Given the description of an element on the screen output the (x, y) to click on. 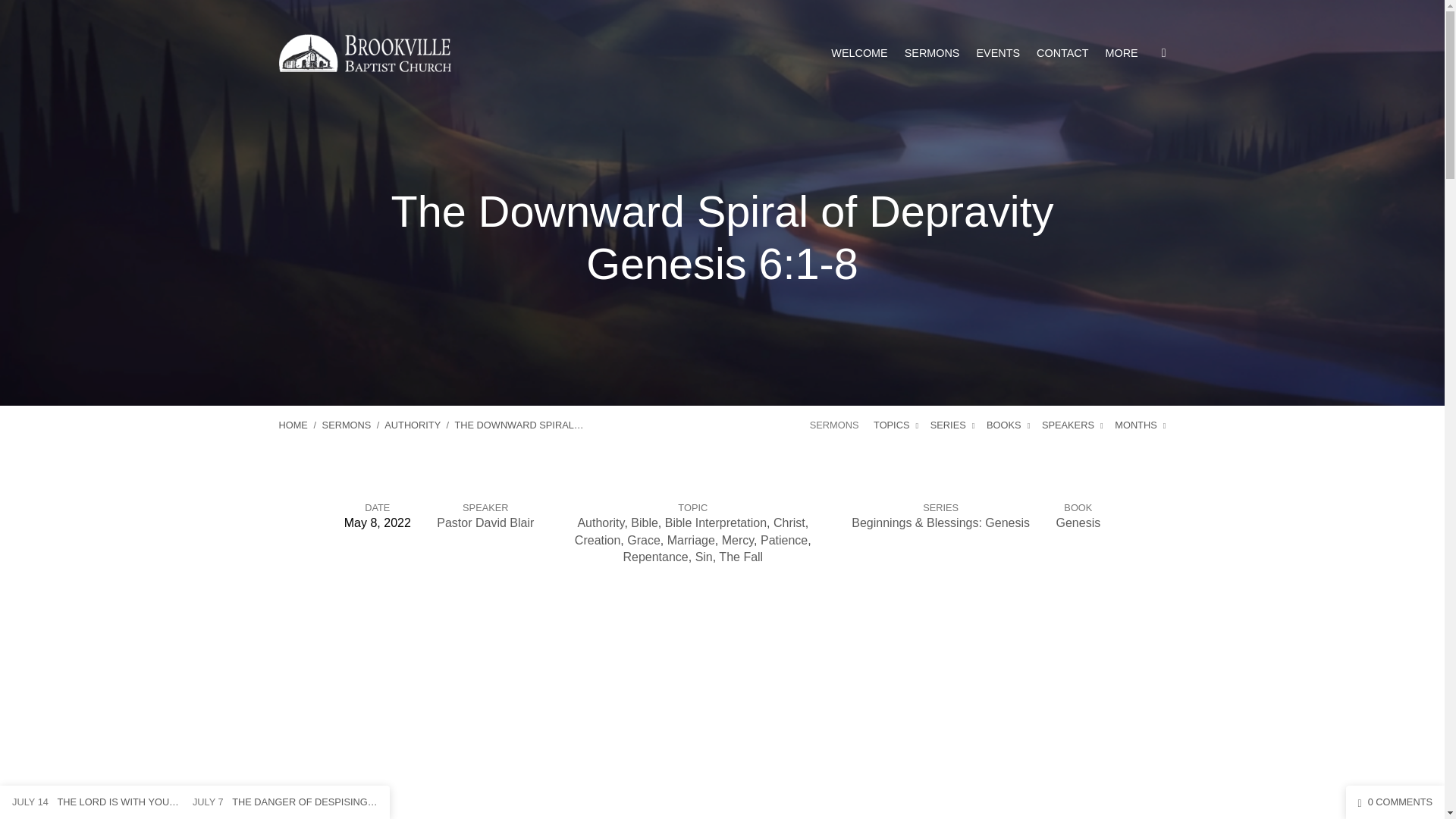
SERMONS (931, 52)
SERMONS (346, 424)
MORE (1121, 52)
HOME (293, 424)
AUTHORITY (412, 424)
0 COMMENTS (1395, 801)
SERMONS (834, 424)
WELCOME (858, 52)
TOPICS (895, 424)
CONTACT (1061, 52)
EVENTS (997, 52)
